Given the description of an element on the screen output the (x, y) to click on. 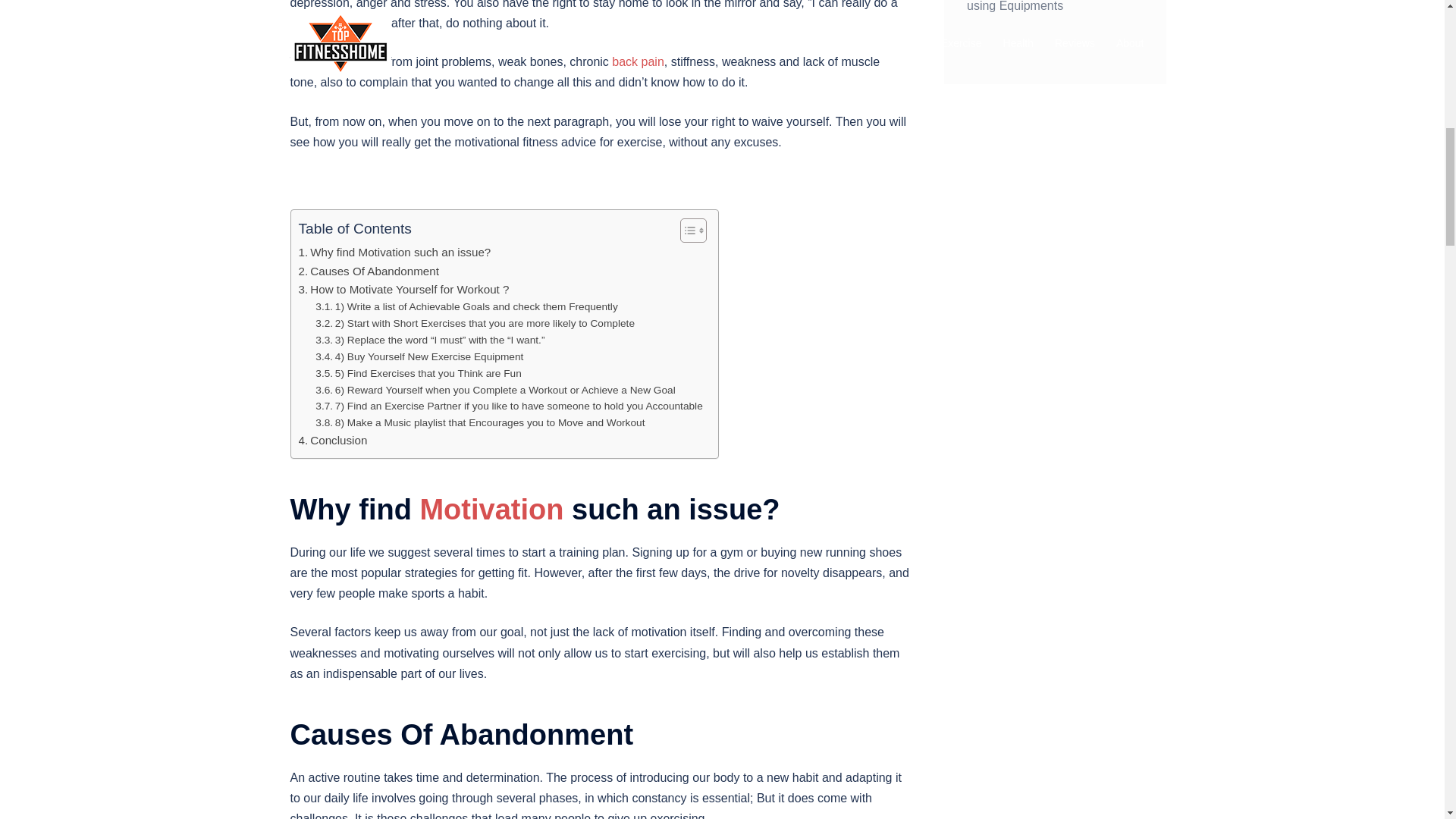
Why find Motivation such an issue? (395, 252)
Why find Motivation such an issue? (395, 252)
Causes Of Abandonment (368, 271)
back pain (637, 61)
How to Motivate Yourself for Workout ? (403, 289)
Conclusion  (334, 440)
Causes Of Abandonment (368, 271)
Motivation (491, 509)
How to Motivate Yourself for Workout ? (403, 289)
